Given the description of an element on the screen output the (x, y) to click on. 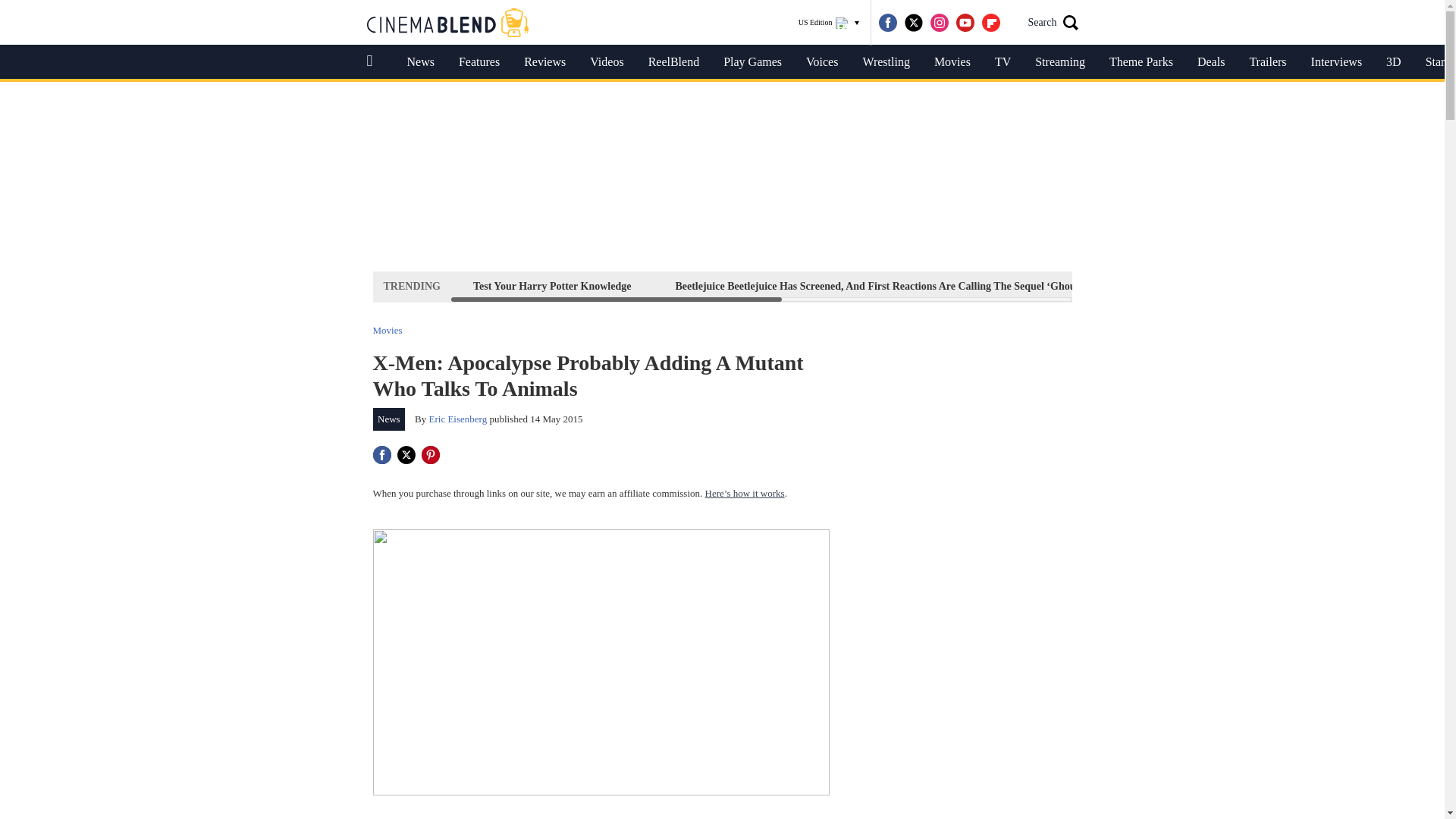
Trailers (1267, 61)
News (419, 61)
Reviews (545, 61)
Movies (951, 61)
2024 Upcoming Movies (1221, 286)
Theme Parks (1141, 61)
Test Your Harry Potter Knowledge (551, 286)
Streaming (1060, 61)
Videos (606, 61)
Voices (821, 61)
